Given the description of an element on the screen output the (x, y) to click on. 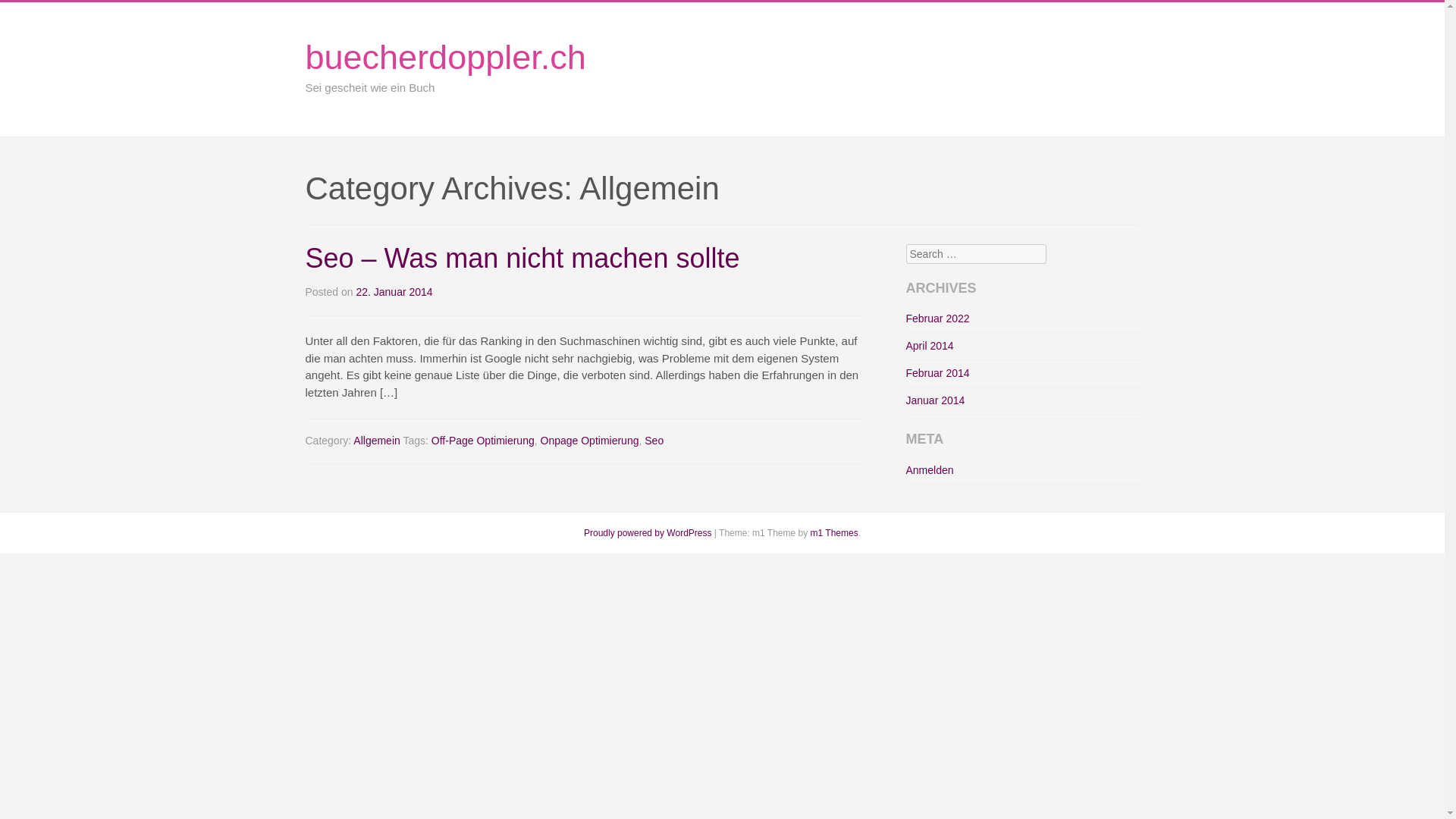
Januar 2014 Element type: text (934, 400)
Allgemein Element type: text (376, 440)
Seo Element type: text (653, 440)
Anmelden Element type: text (929, 470)
Februar 2022 Element type: text (937, 318)
April 2014 Element type: text (929, 345)
m1 Themes Element type: text (834, 532)
Off-Page Optimierung Element type: text (482, 440)
Onpage Optimierung Element type: text (589, 440)
Proudly powered by WordPress Element type: text (647, 532)
Skip to content Element type: text (1149, 83)
22. Januar 2014 Element type: text (393, 291)
buecherdoppler.ch Element type: text (444, 56)
Search Element type: text (32, 15)
Februar 2014 Element type: text (937, 373)
